Given the description of an element on the screen output the (x, y) to click on. 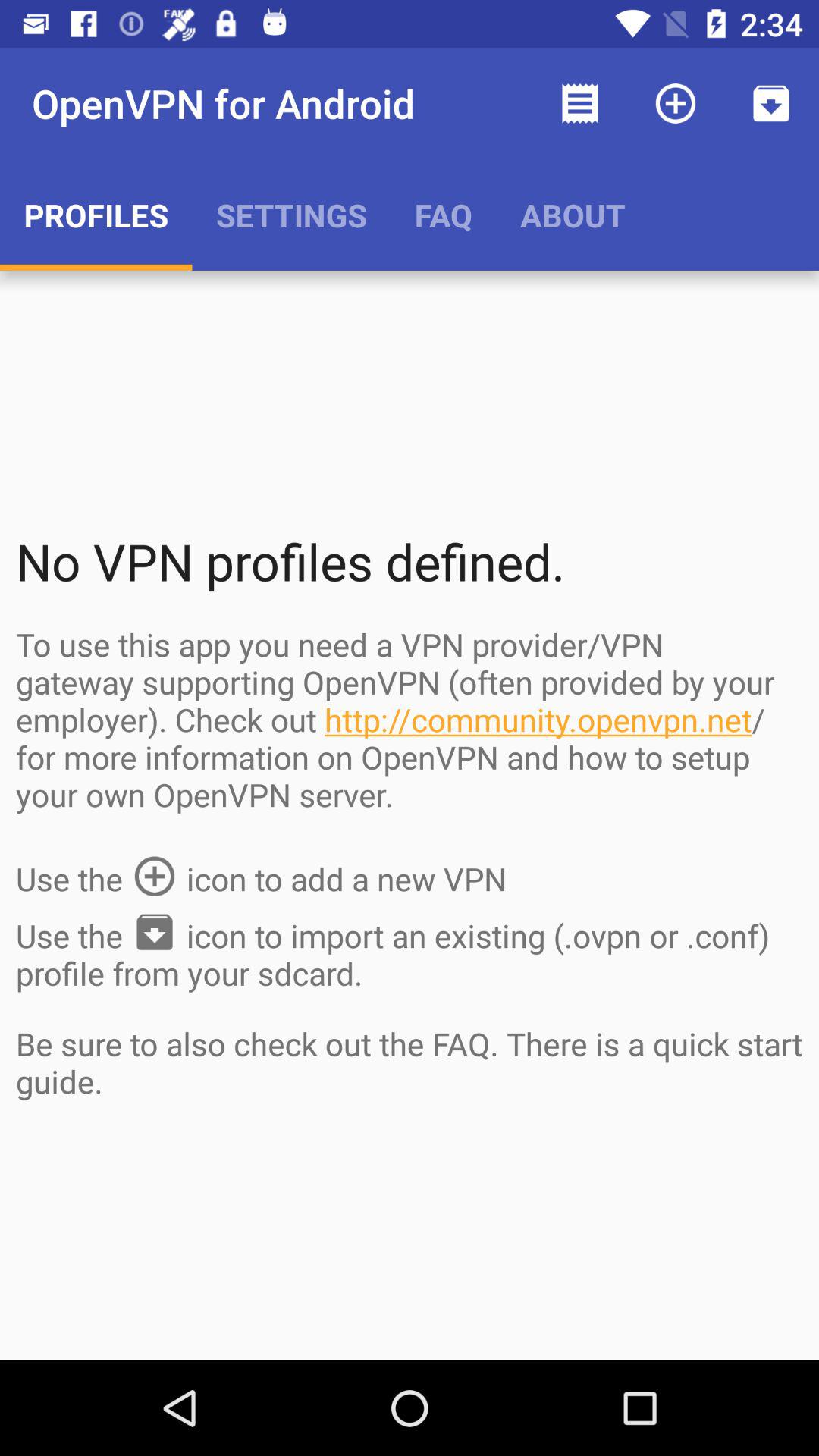
turn on the icon next to faq icon (579, 103)
